Given the description of an element on the screen output the (x, y) to click on. 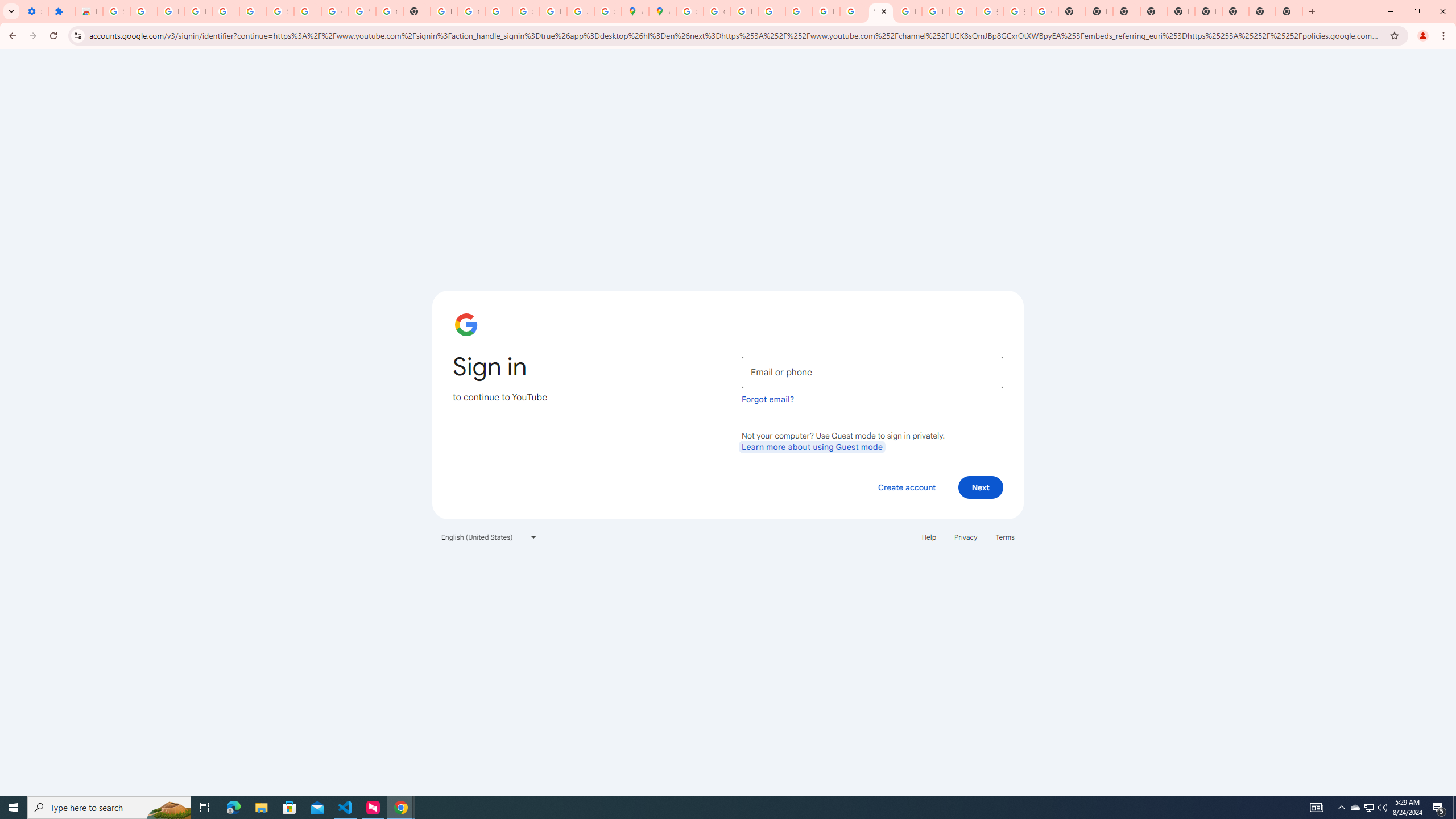
English (United States) (489, 536)
Delete photos & videos - Computer - Google Photos Help (197, 11)
Privacy Help Center - Policies Help (771, 11)
Reviews: Helix Fruit Jump Arcade Game (88, 11)
